Given the description of an element on the screen output the (x, y) to click on. 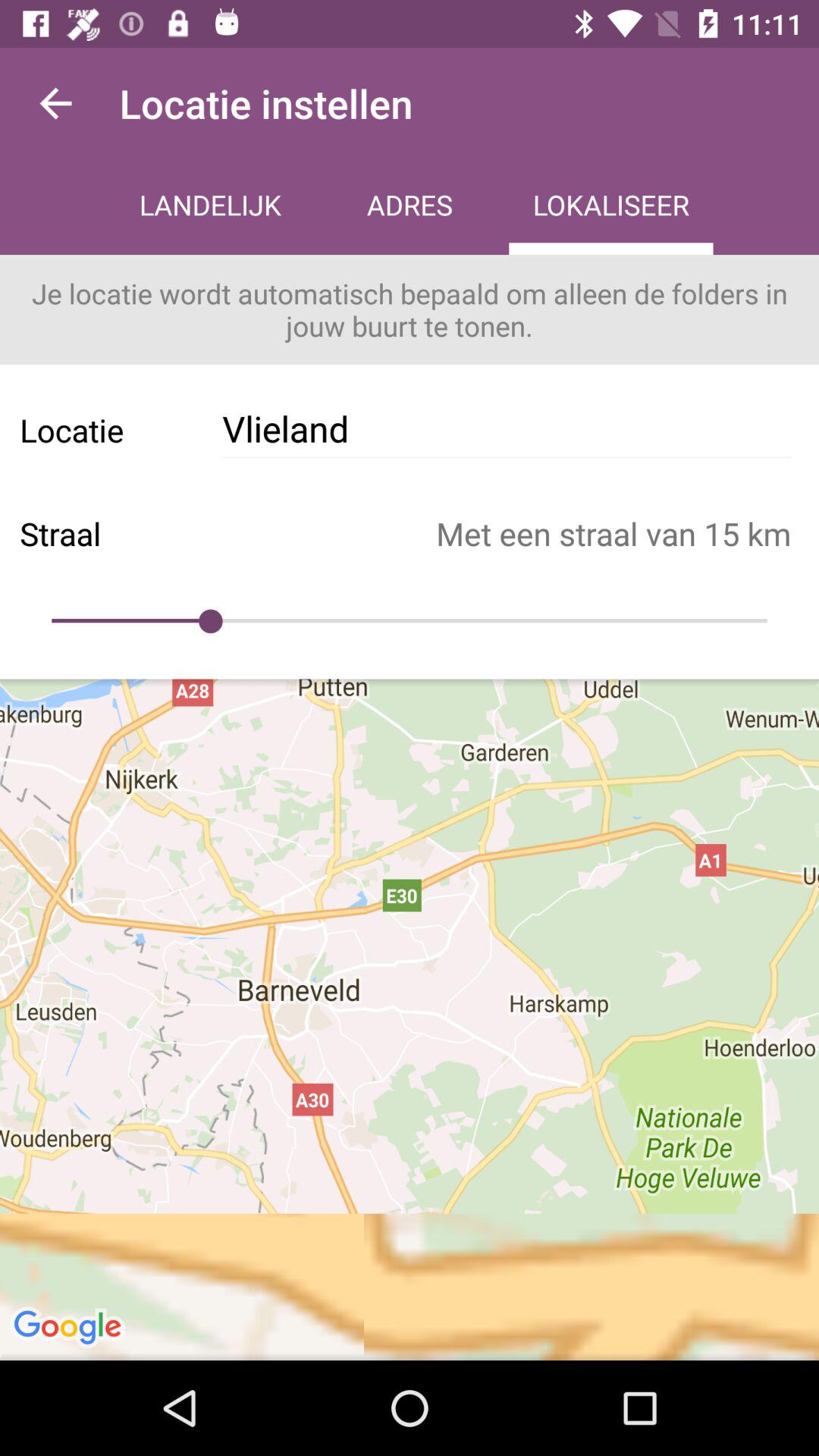
tap the adres item (409, 206)
